Given the description of an element on the screen output the (x, y) to click on. 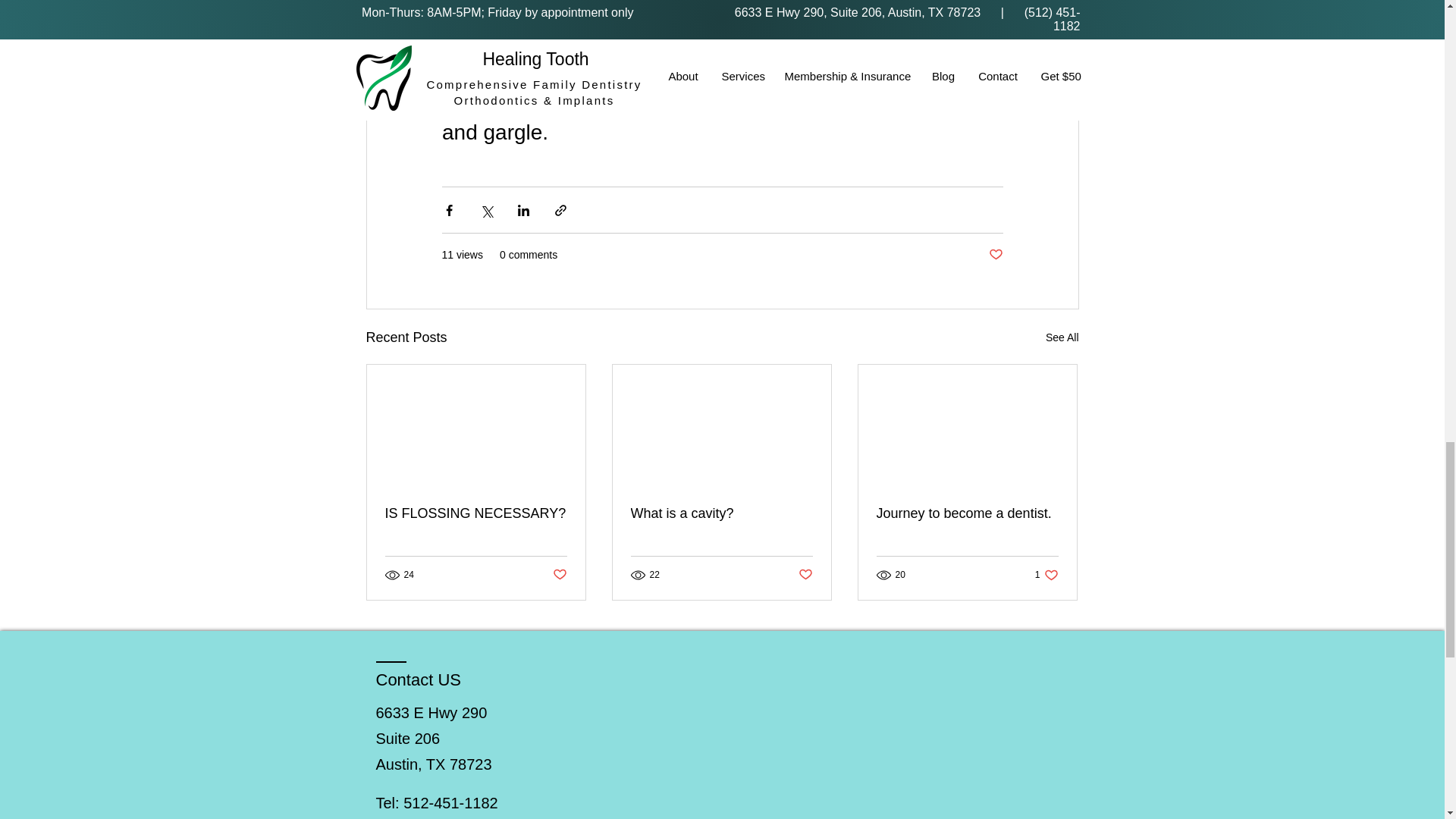
IS FLOSSING NECESSARY? (476, 513)
What is a cavity? (1046, 575)
Post not marked as liked (721, 513)
See All (995, 254)
Post not marked as liked (1061, 337)
Post not marked as liked (804, 575)
Journey to become a dentist. (558, 575)
512-451-1182 (967, 513)
